Given the description of an element on the screen output the (x, y) to click on. 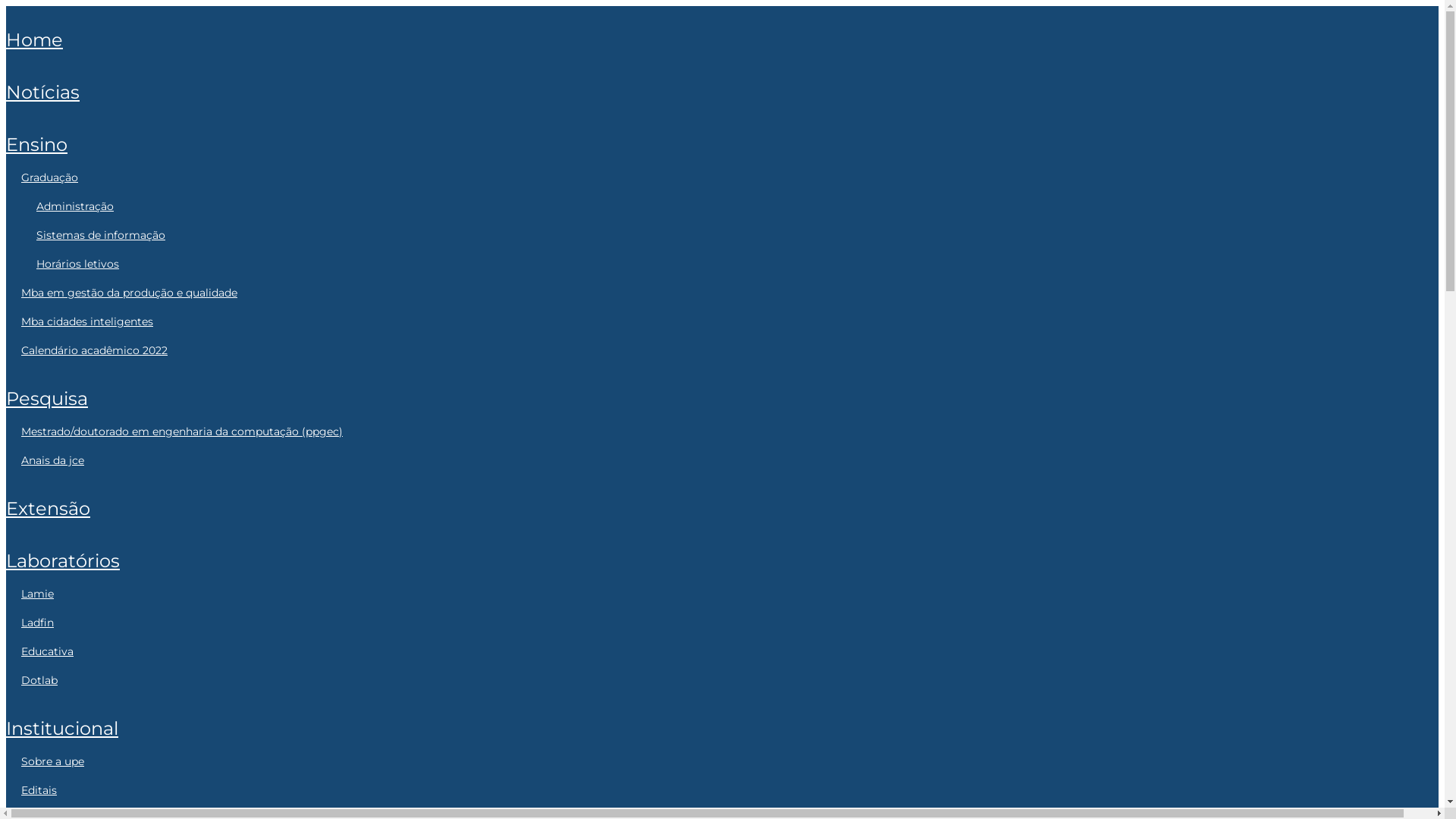
mba cidades inteligentes Element type: text (87, 321)
sobre a upe Element type: text (52, 760)
pesquisa Element type: text (46, 398)
educativa Element type: text (47, 651)
dotlab Element type: text (39, 679)
anais da jce Element type: text (52, 459)
ensino Element type: text (36, 144)
institucional Element type: text (62, 727)
lamie Element type: text (37, 593)
ladfin Element type: text (37, 622)
editais Element type: text (38, 789)
home Element type: text (34, 39)
